Given the description of an element on the screen output the (x, y) to click on. 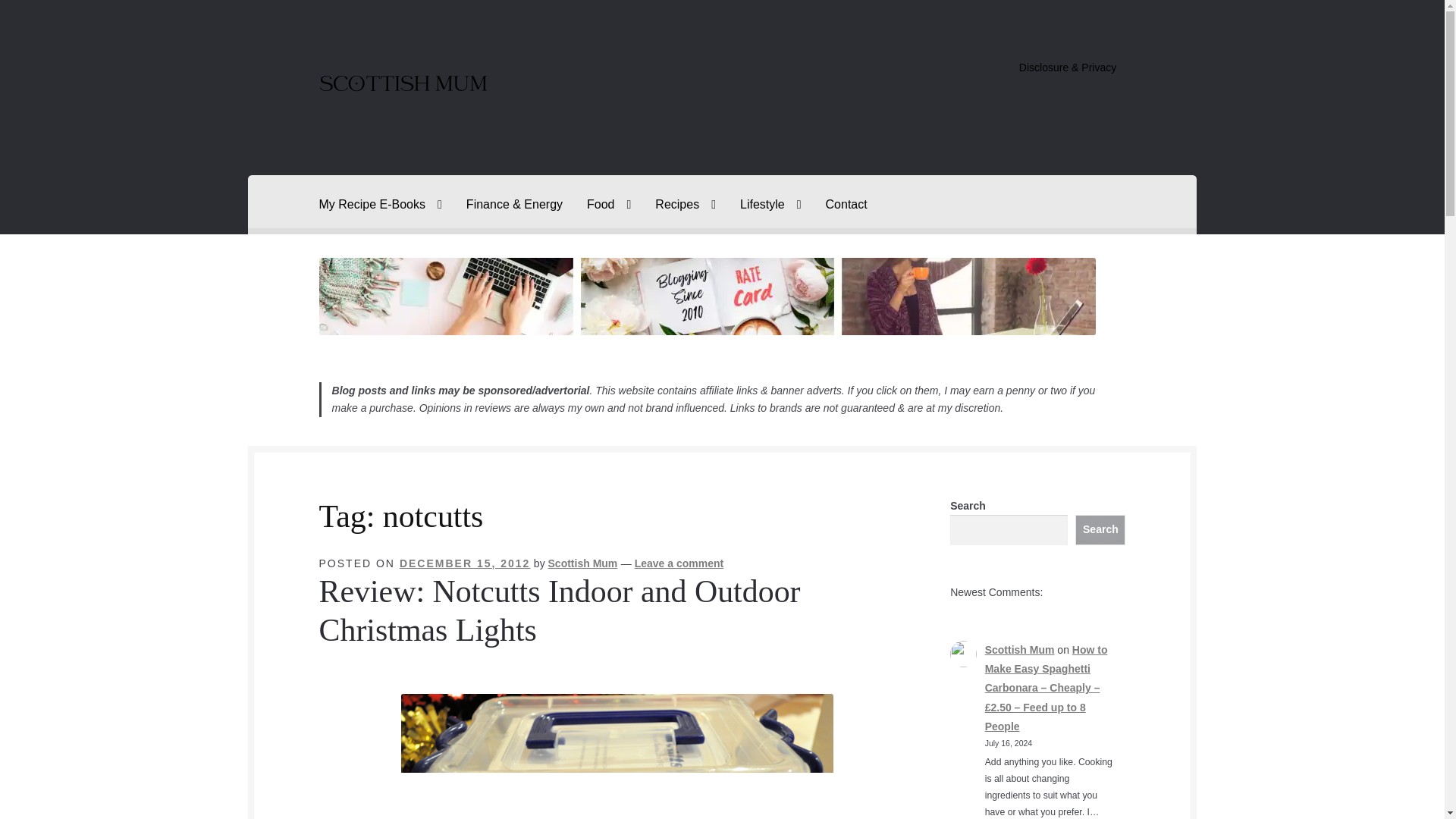
Food (609, 204)
Recipes (685, 204)
Lifestyle (770, 204)
My Recipe E-Books (380, 204)
